Given the description of an element on the screen output the (x, y) to click on. 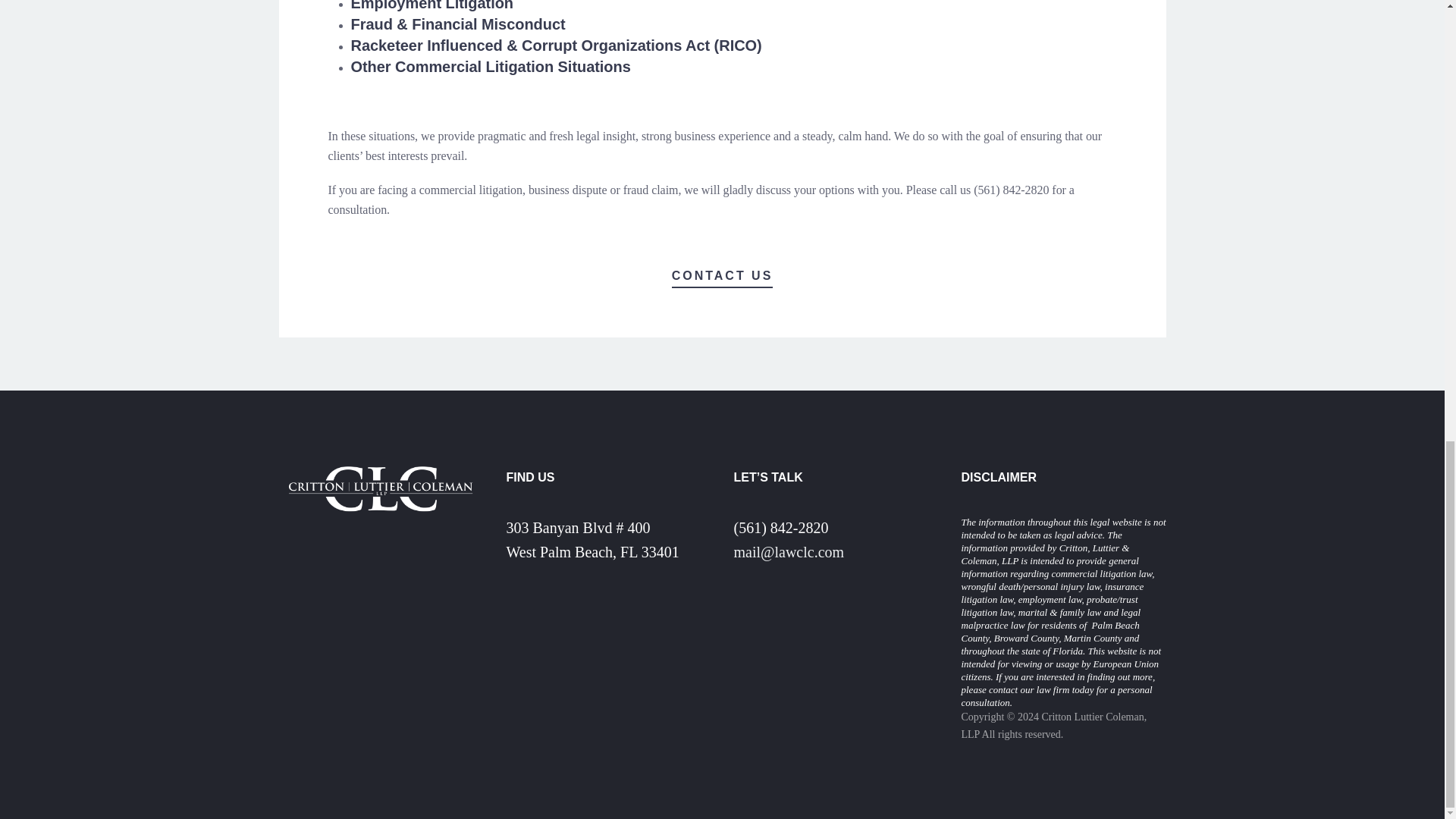
CONTACT US (722, 277)
